Given the description of an element on the screen output the (x, y) to click on. 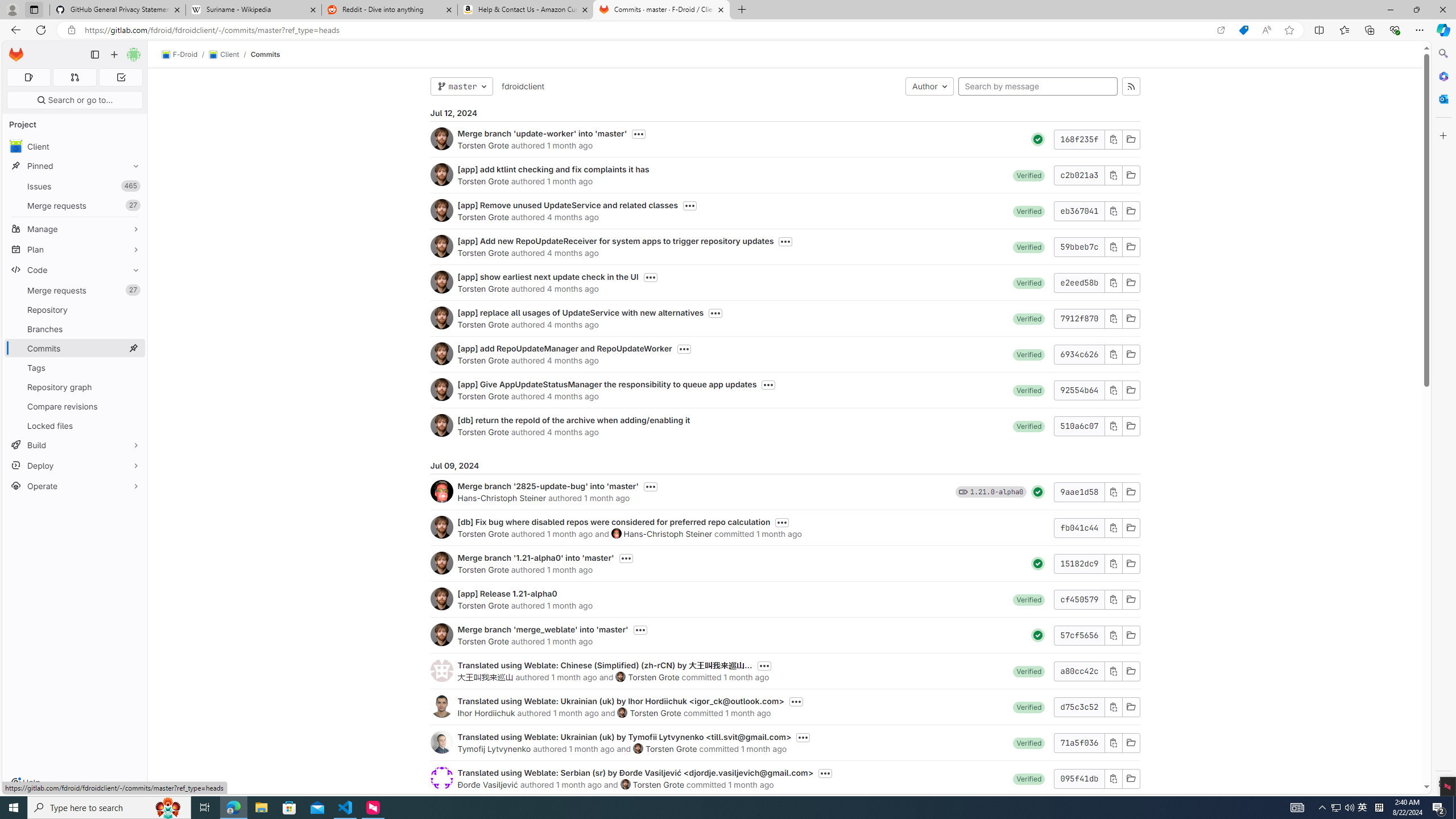
Help & Contact Us - Amazon Customer Service (525, 9)
Build (74, 444)
Pin Repository graph (132, 386)
Locked files (74, 425)
Suriname - Wikipedia (253, 9)
Search by message (1038, 85)
Author (929, 85)
Deploy (74, 465)
